Given the description of an element on the screen output the (x, y) to click on. 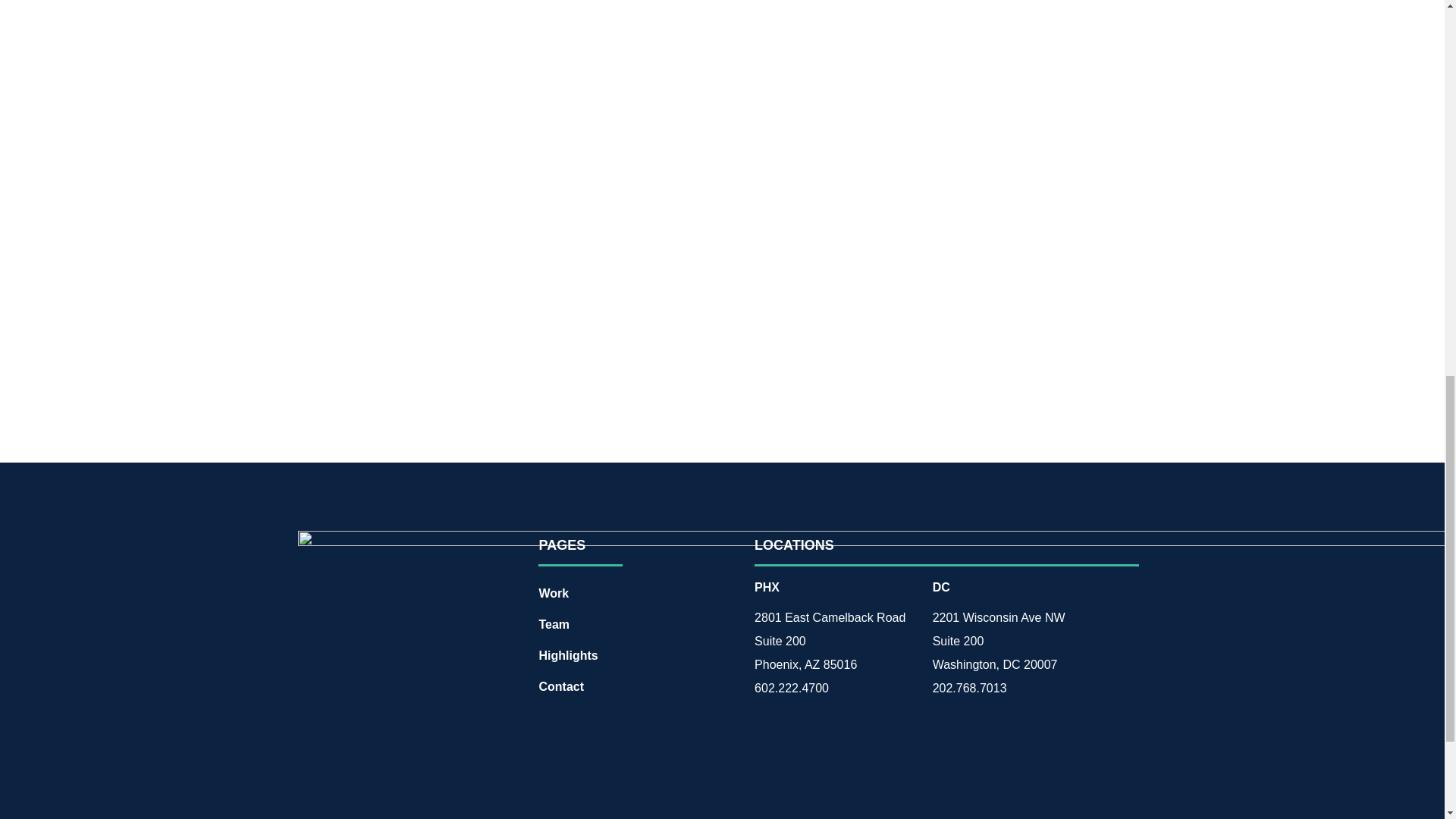
Team (630, 624)
Work (630, 592)
Contact (630, 686)
Highlights (630, 655)
